Given the description of an element on the screen output the (x, y) to click on. 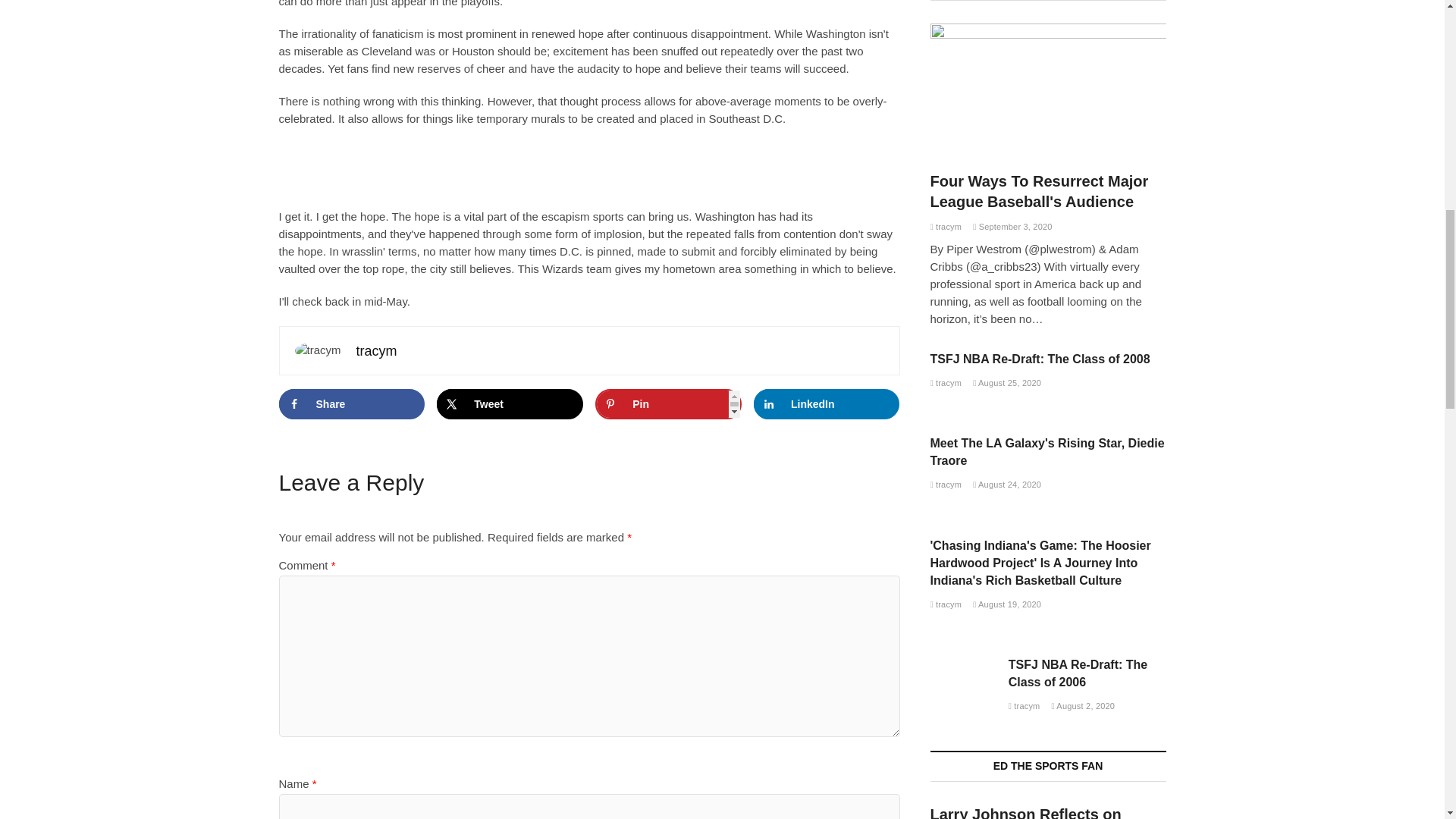
Share on LinkedIn (826, 404)
Four Ways To Resurrect Major League Baseball's Audience (1039, 190)
TSFJ NBA Re-Draft: The Class of 2008 (945, 382)
Four Ways To Resurrect Major League Baseball's Audience (1048, 89)
Share on X (509, 404)
TSFJ NBA Re-Draft: The Class of 2008 (1040, 358)
Share on Facebook (352, 404)
Save to Pinterest (668, 404)
Four Ways To Resurrect Major League Baseball's Audience (945, 225)
September 3, 2020 (1011, 225)
